Given the description of an element on the screen output the (x, y) to click on. 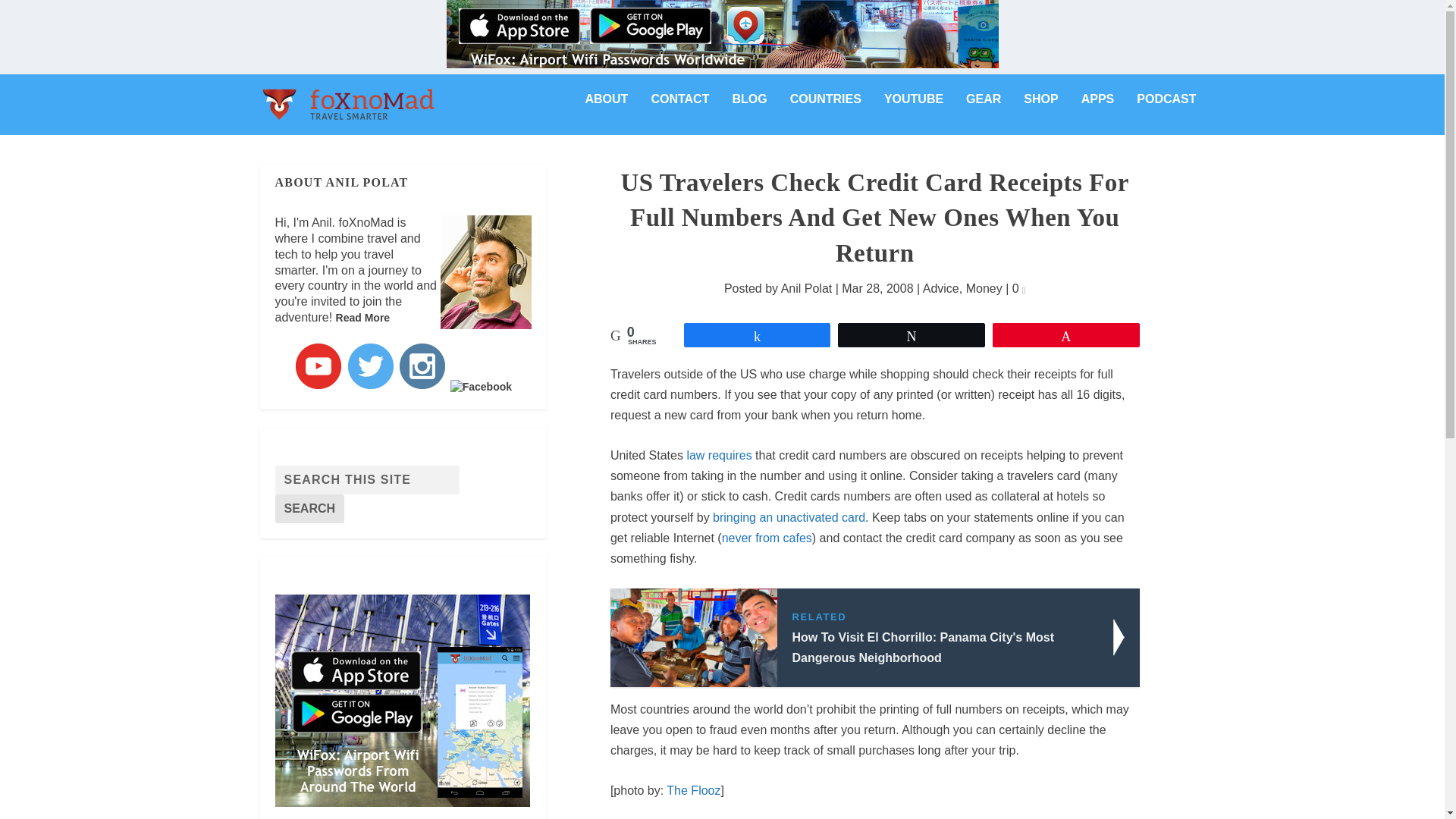
ABOUT (606, 111)
Anil Polat (806, 287)
Instagram (421, 366)
YouTube (318, 366)
Money (984, 287)
Search (310, 508)
Read More (363, 317)
Twitter (370, 366)
APPS (1098, 111)
BLOG (749, 111)
Advice (941, 287)
COUNTRIES (825, 111)
never from cafes (767, 537)
Facebook (480, 386)
